Given the description of an element on the screen output the (x, y) to click on. 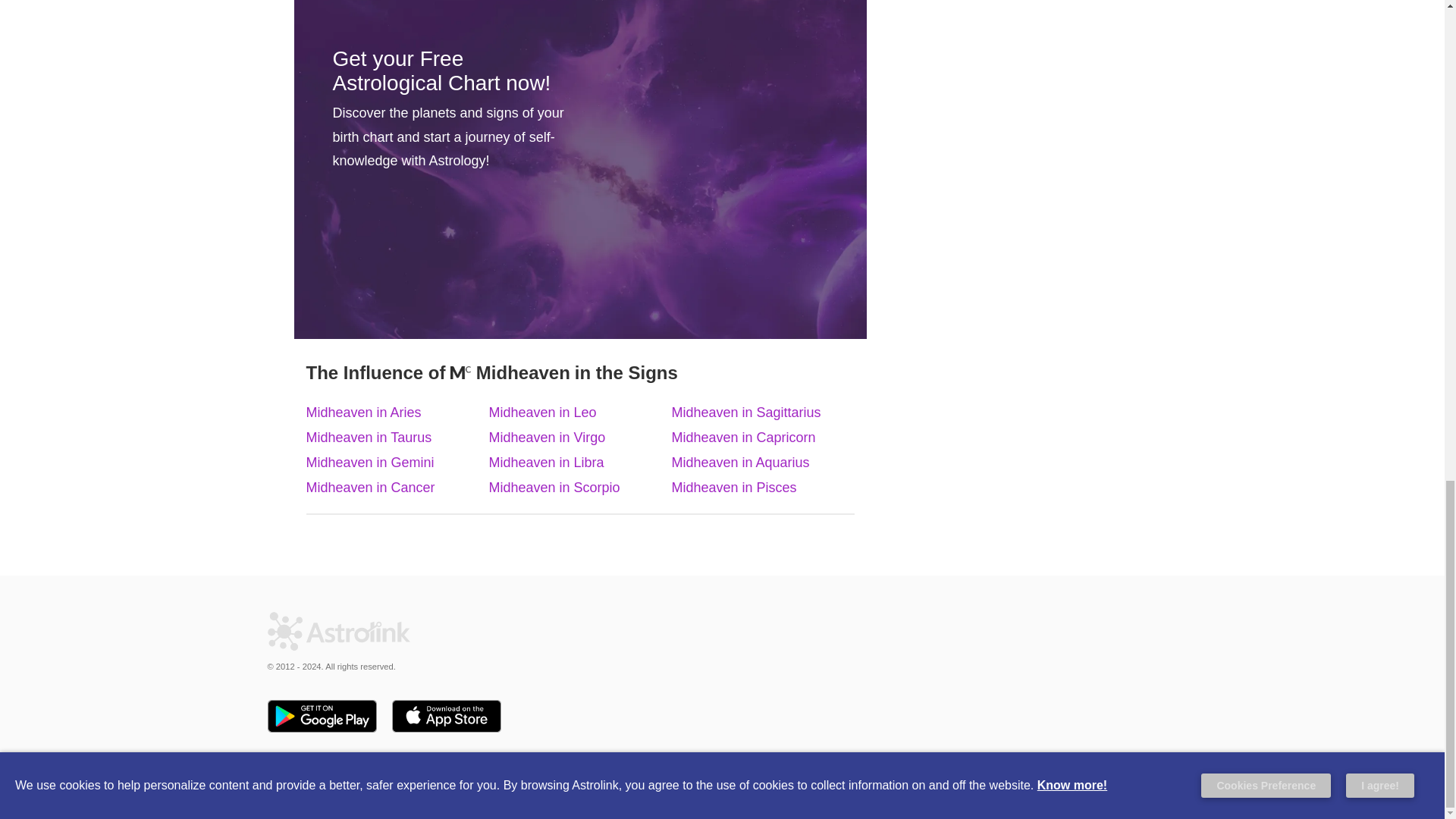
Midheaven in Taurus (368, 437)
Midheaven in Pisces (733, 487)
Instagram (281, 779)
Terms of use (863, 784)
Google Play Store (320, 717)
Midheaven in Aquarius (740, 462)
Midheaven in Scorpio (553, 487)
Midheaven in Aries (363, 412)
Midheaven in Leo (541, 412)
Midheaven in Gemini (369, 462)
